Given the description of an element on the screen output the (x, y) to click on. 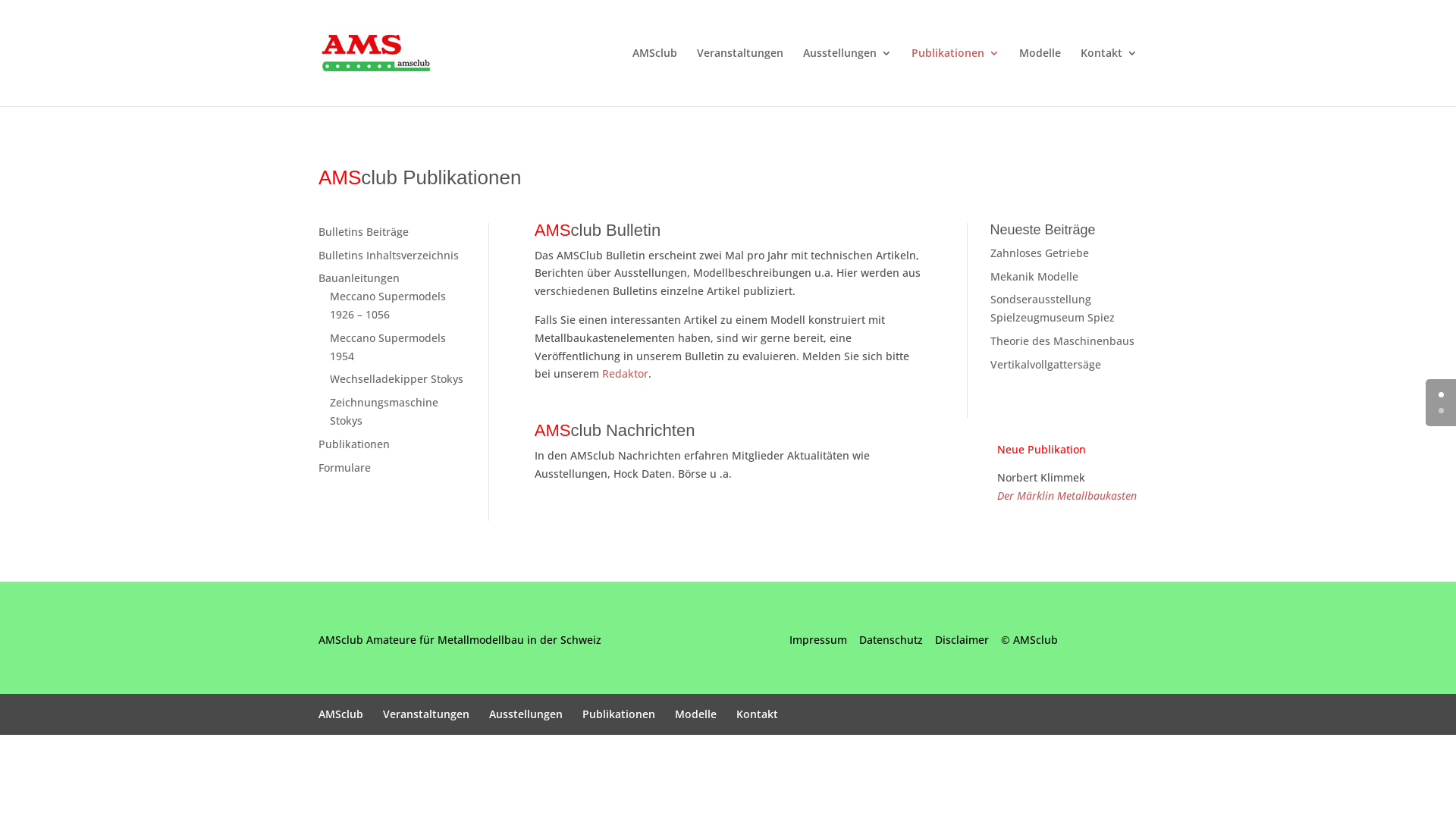
Publikationen Element type: text (618, 713)
Datenschutz Element type: text (890, 639)
Mekanik Modelle Element type: text (1034, 276)
Publikationen Element type: text (353, 443)
Bauanleitungen Element type: text (358, 277)
Theorie des Maschinenbaus Element type: text (1062, 340)
Wechselladekipper Stokys Element type: text (396, 378)
Sondserausstellung Spielzeugmuseum Spiez Element type: text (1052, 307)
Publikationen Element type: text (955, 76)
Redaktor Element type: text (625, 373)
Impressum Element type: text (818, 639)
AMSclub Element type: text (340, 713)
Ausstellungen Element type: text (847, 76)
Zahnloses Getriebe Element type: text (1039, 252)
Meccano Supermodels 1954 Element type: text (387, 346)
Disclaimer Element type: text (961, 639)
Modelle Element type: text (1039, 76)
Formulare Element type: text (344, 467)
Veranstaltungen Element type: text (425, 713)
Ausstellungen Element type: text (525, 713)
Kontakt Element type: text (1108, 76)
Veranstaltungen Element type: text (739, 76)
Modelle Element type: text (695, 713)
AMSclub Element type: text (654, 76)
Zeichnungsmaschine Stokys Element type: text (383, 411)
Bulletins Inhaltsverzeichnis Element type: text (388, 254)
0 Element type: text (1440, 394)
Kontakt Element type: text (757, 713)
1 Element type: text (1440, 410)
